Given the description of an element on the screen output the (x, y) to click on. 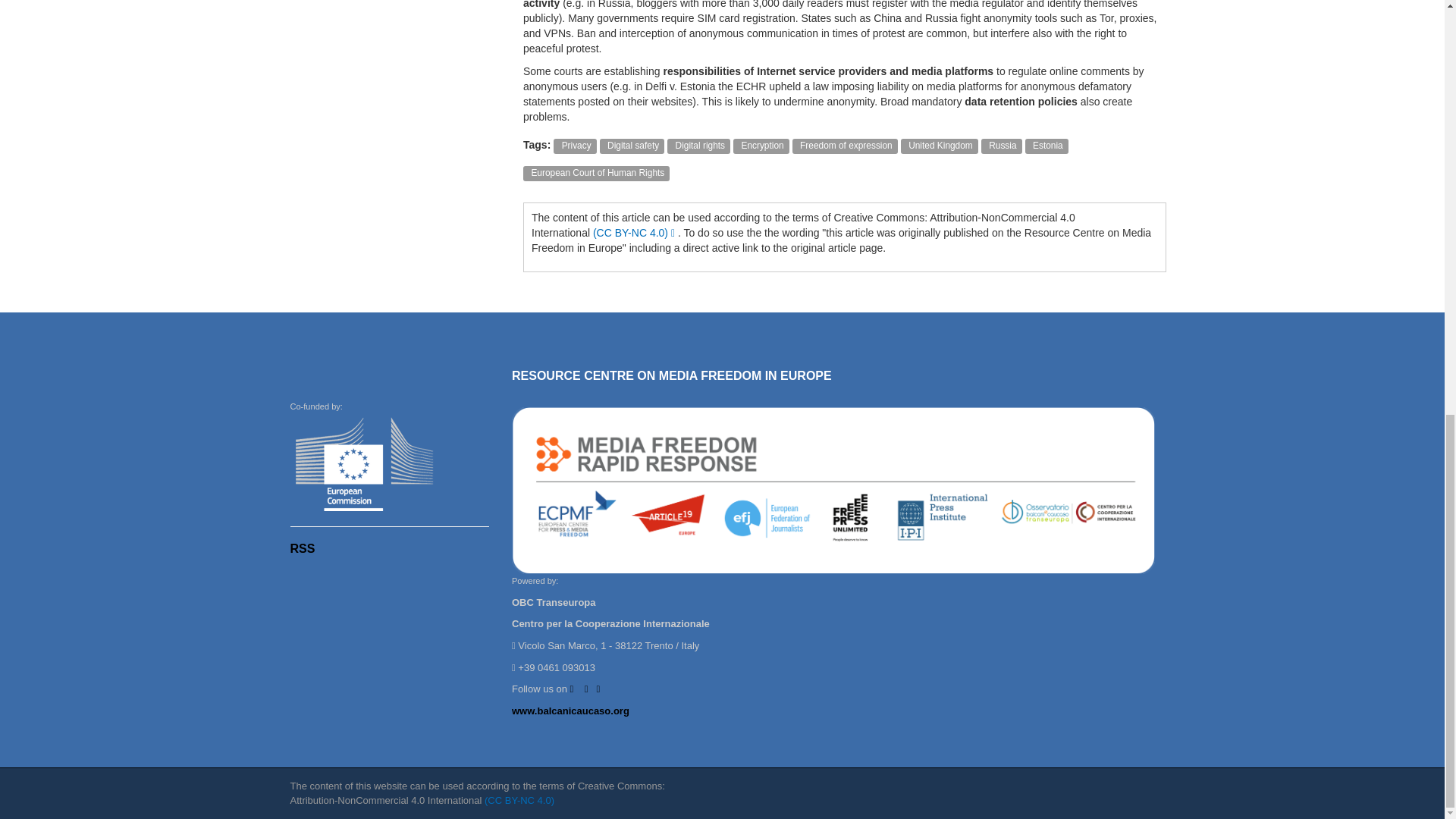
Digital rights (698, 144)
Digital safety (632, 144)
Russia (1001, 144)
Encryption (761, 144)
United Kingdom (939, 144)
European Court of Human Rights (595, 172)
Media Freedom Rapid Response Logo (833, 490)
Freedom of expression (845, 144)
Privacy (574, 144)
Estonia (1046, 144)
